Given the description of an element on the screen output the (x, y) to click on. 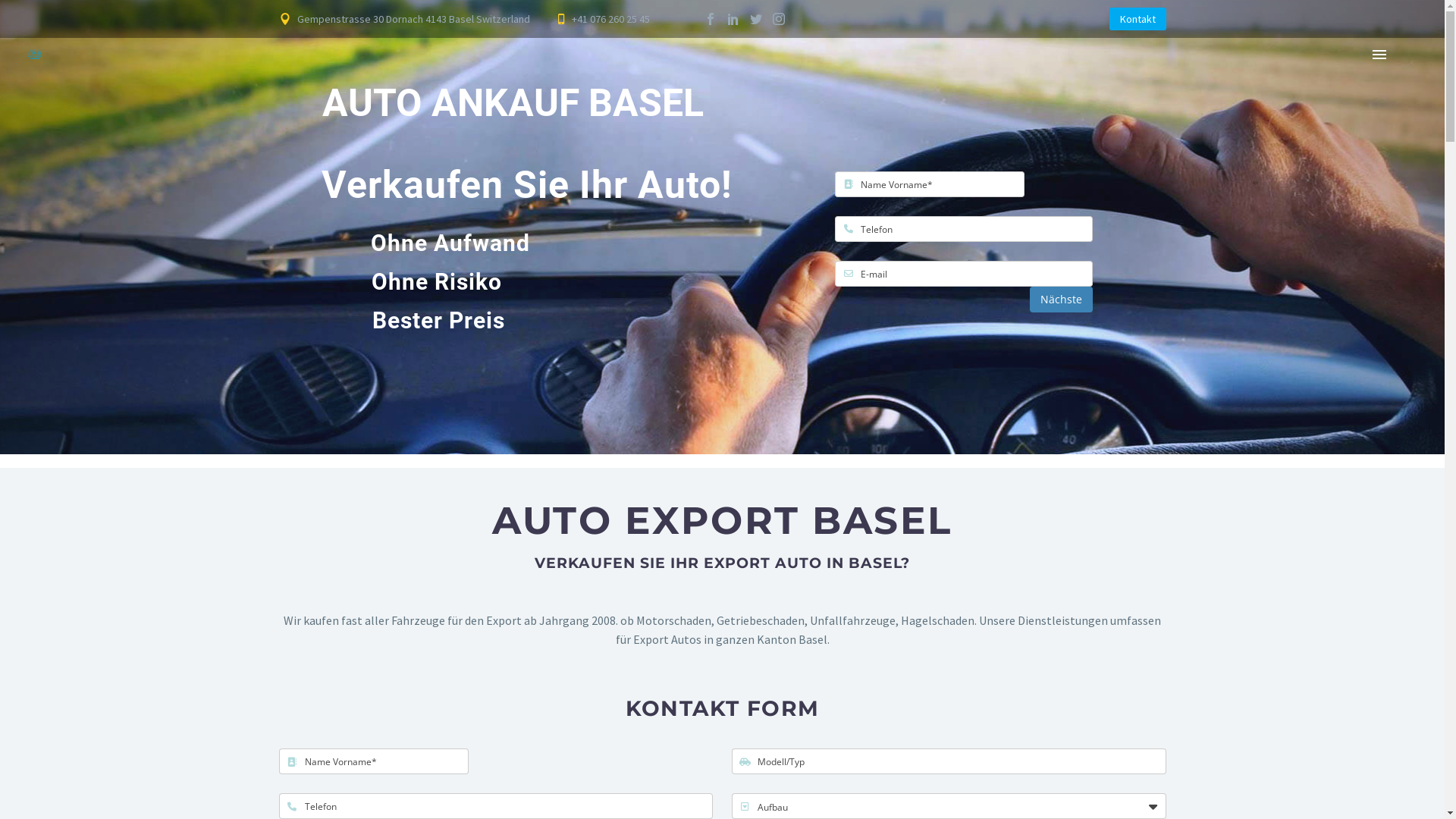
Primary Menu Element type: text (1379, 54)
Instagram Element type: hover (778, 18)
+41 076 260 25 45 Element type: text (610, 18)
Kontakt Element type: text (1136, 18)
Facebook Element type: hover (710, 18)
LinkedIn Element type: hover (732, 18)
Twitter Element type: hover (755, 18)
